Given the description of an element on the screen output the (x, y) to click on. 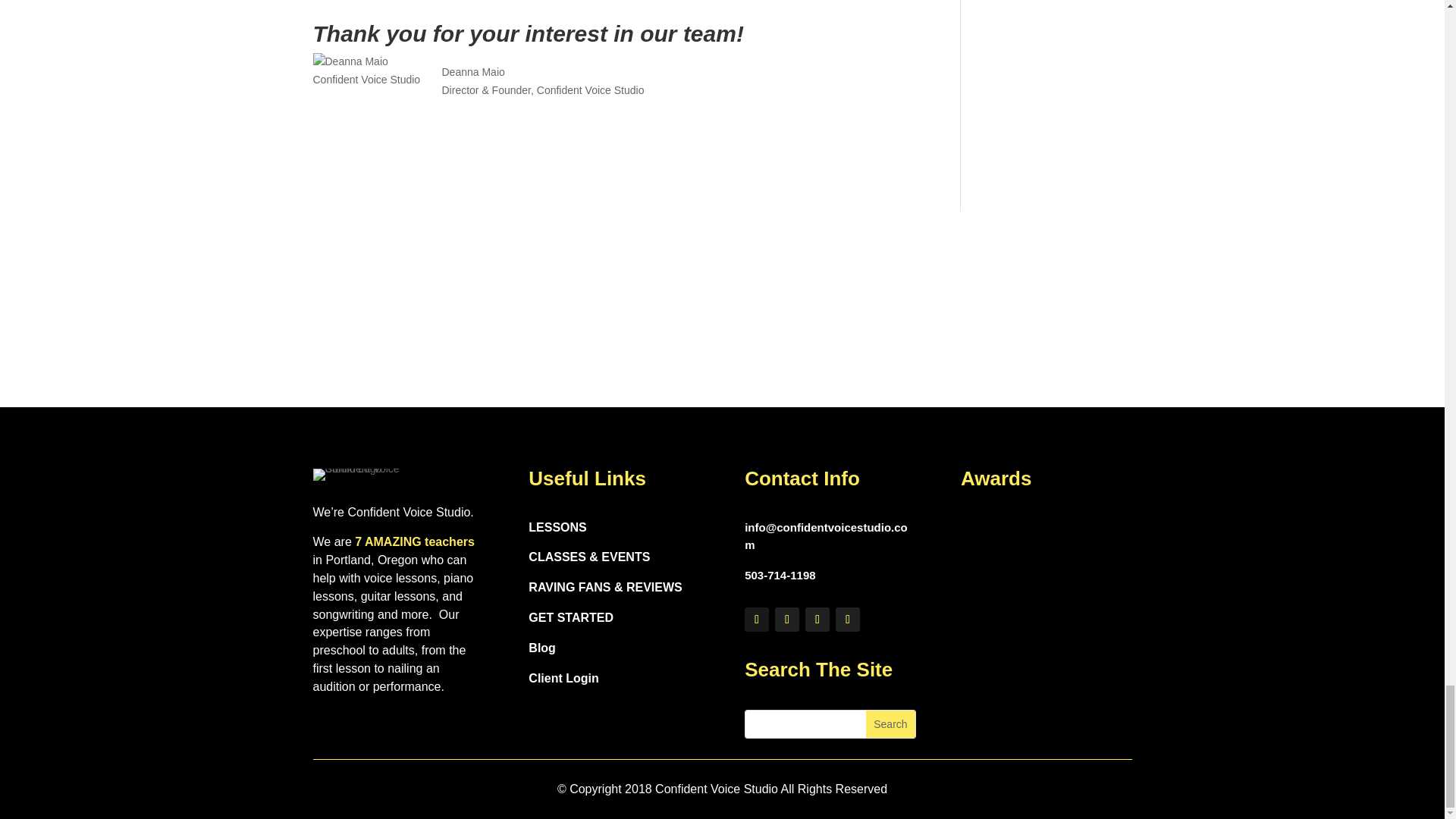
Search (890, 723)
Follow on X (786, 619)
Follow on Youtube (817, 619)
Follow on Facebook (756, 619)
Follow on Instagram (847, 619)
Copy of LOGO CVS (362, 474)
Search (890, 723)
